Given the description of an element on the screen output the (x, y) to click on. 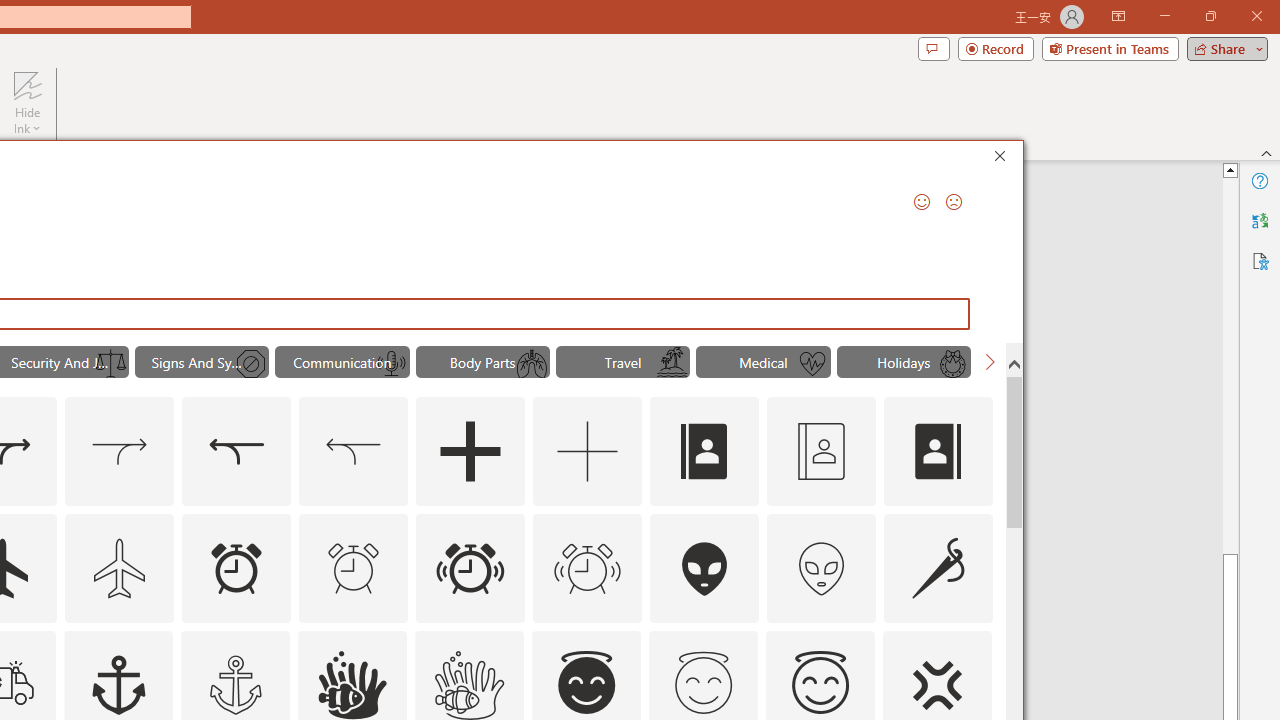
AutomationID: Icons_AlienFace_M (821, 568)
AutomationID: Icons_AddressBook_RTL (938, 452)
"Holidays" Icons. (904, 362)
"Body Parts" Icons. (483, 362)
AutomationID: Icons_Add_M (587, 452)
AutomationID: Icons_Podcast_M (391, 364)
AutomationID: _134_Angel_Face_A (586, 682)
Next Search Suggestion (990, 362)
